Given the description of an element on the screen output the (x, y) to click on. 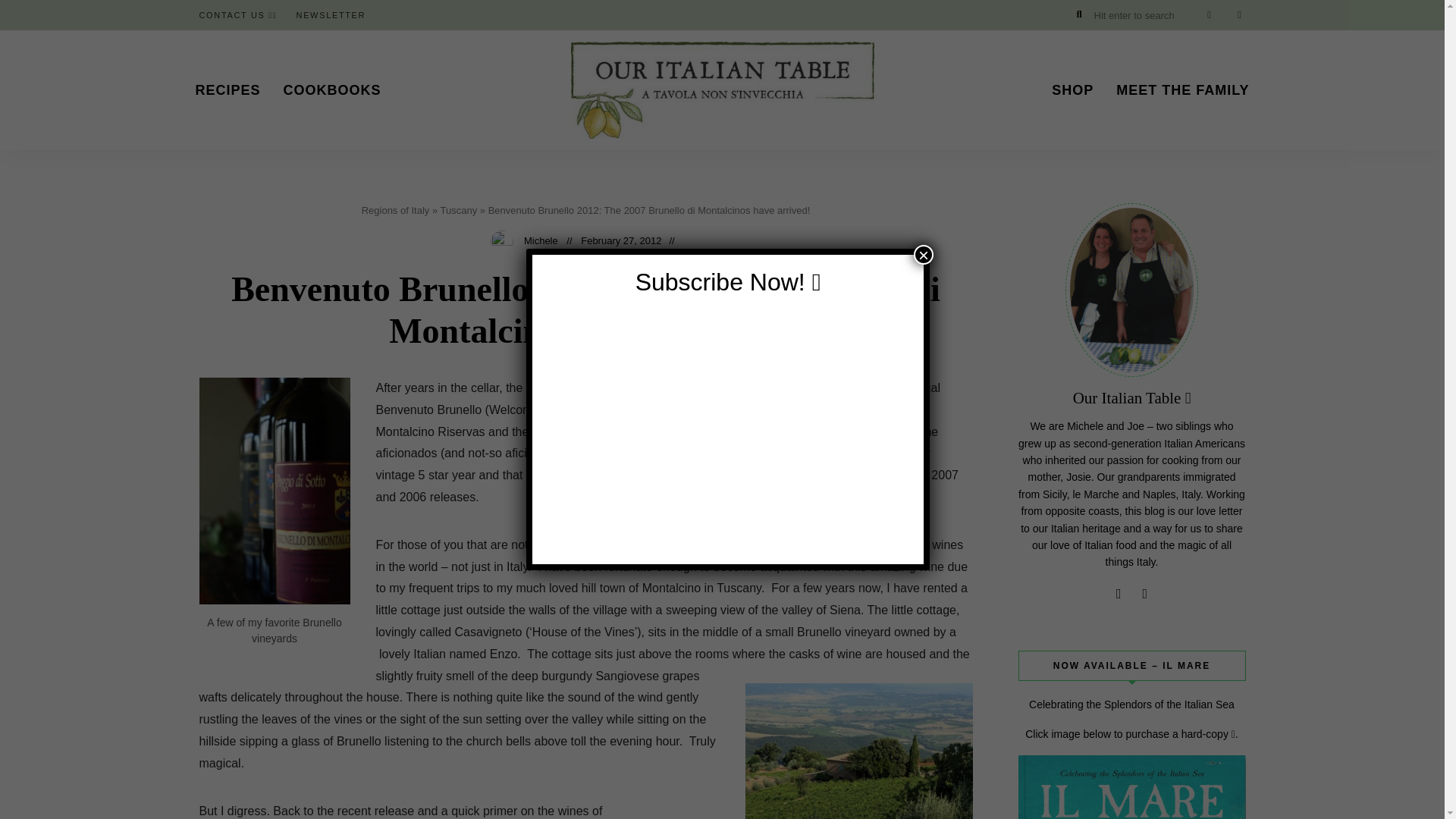
Facebook (1238, 15)
COOKBOOKS (332, 89)
RECIPES (226, 89)
Michele (540, 240)
NEWSLETTER (331, 15)
Instagram (1208, 15)
Facebook (1145, 593)
Tuscany (458, 210)
Casavigneto (858, 751)
MEET THE FAMILY (1182, 89)
Instagram (1117, 593)
Regions of Italy (395, 210)
